Given the description of an element on the screen output the (x, y) to click on. 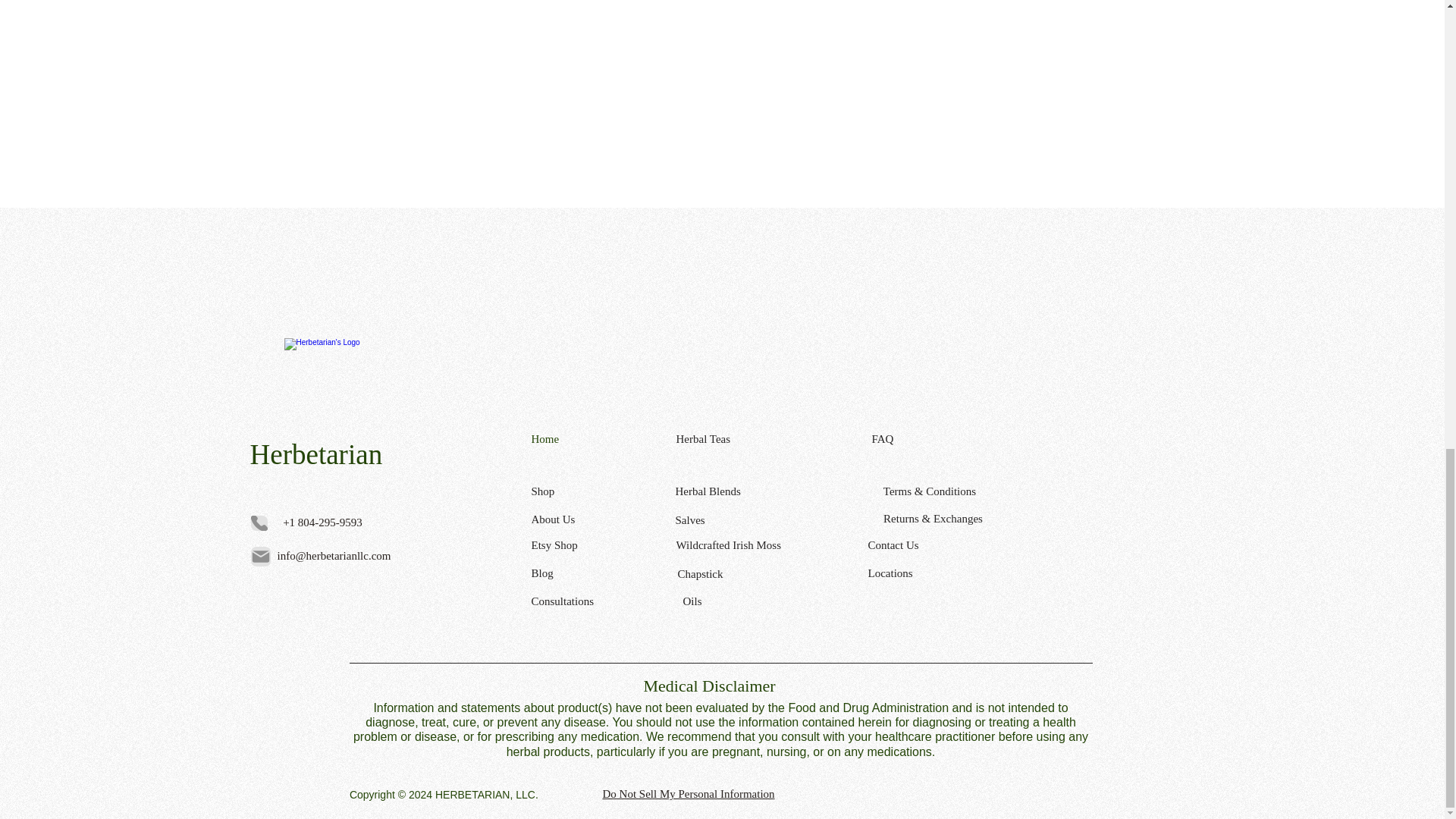
Consultations (585, 601)
Herbetarian Health and Wellness Shop (335, 389)
Shop (585, 491)
About Us (585, 519)
Herbal Teas (727, 438)
Herbal Blends (726, 491)
Home (585, 439)
Blog (585, 573)
Etsy Shop (585, 545)
